Given the description of an element on the screen output the (x, y) to click on. 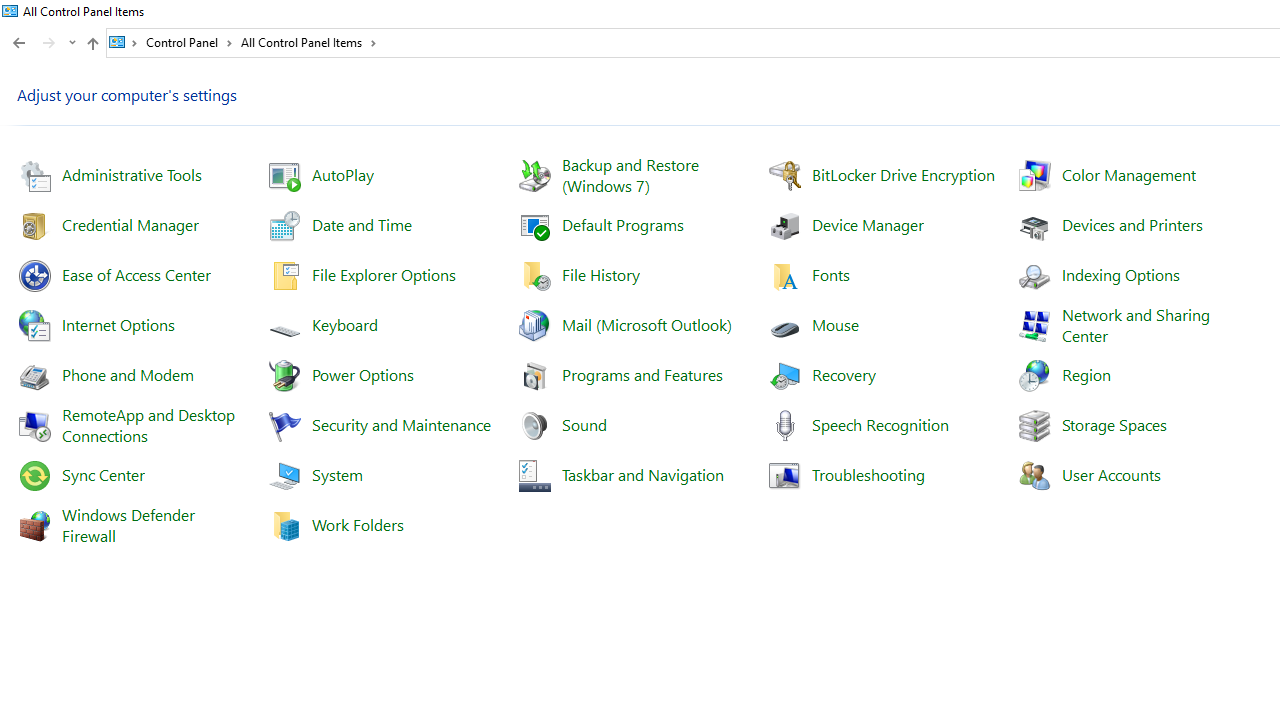
Windows Defender Firewall (130, 524)
File History (601, 274)
Ease of Access Center (136, 274)
Mail (Microsoft Outlook) (646, 323)
